Given the description of an element on the screen output the (x, y) to click on. 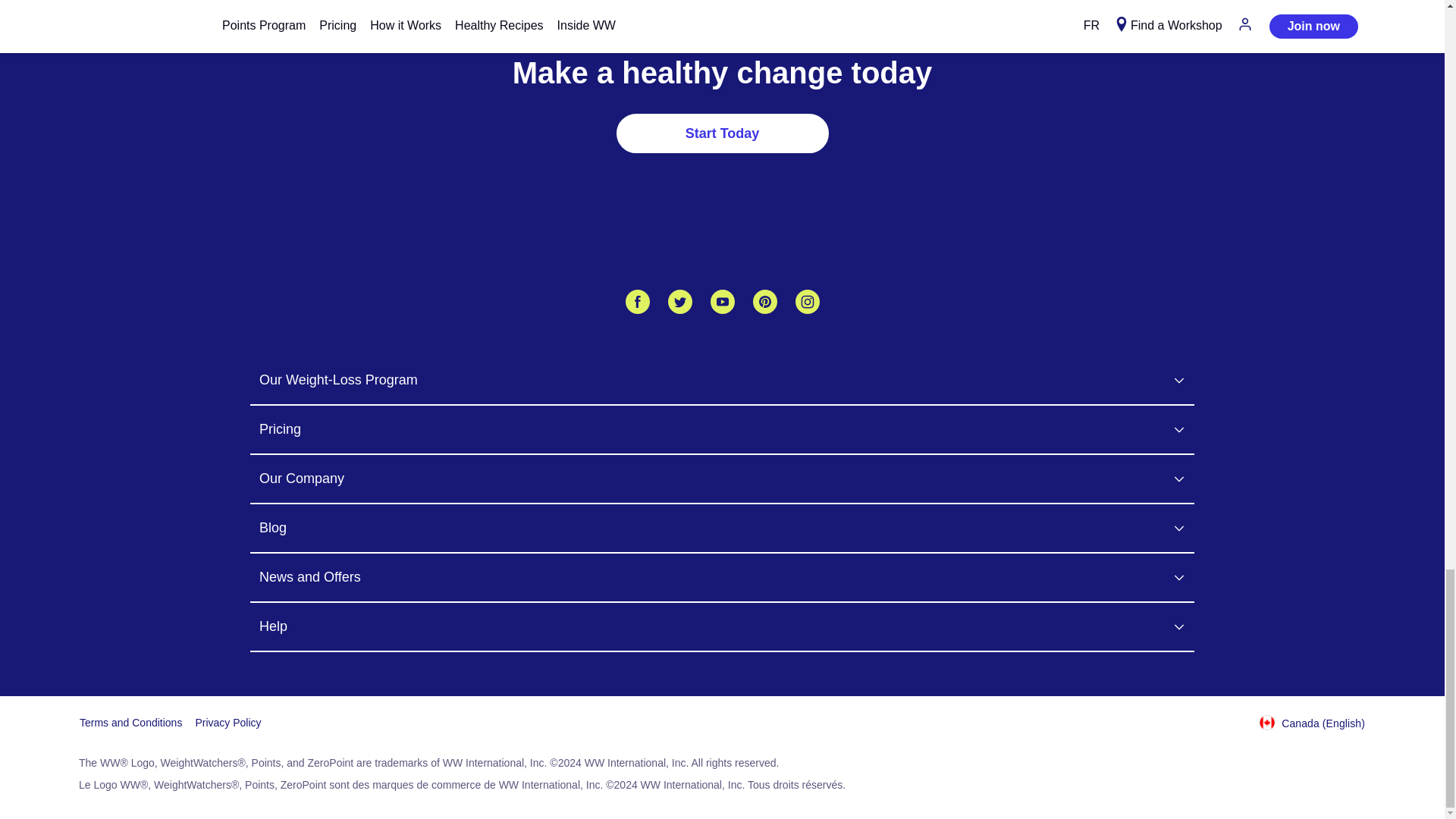
Pinterest (764, 301)
Instagram (806, 301)
YouTube (721, 301)
Twitter (678, 301)
Facebook (636, 301)
